Given the description of an element on the screen output the (x, y) to click on. 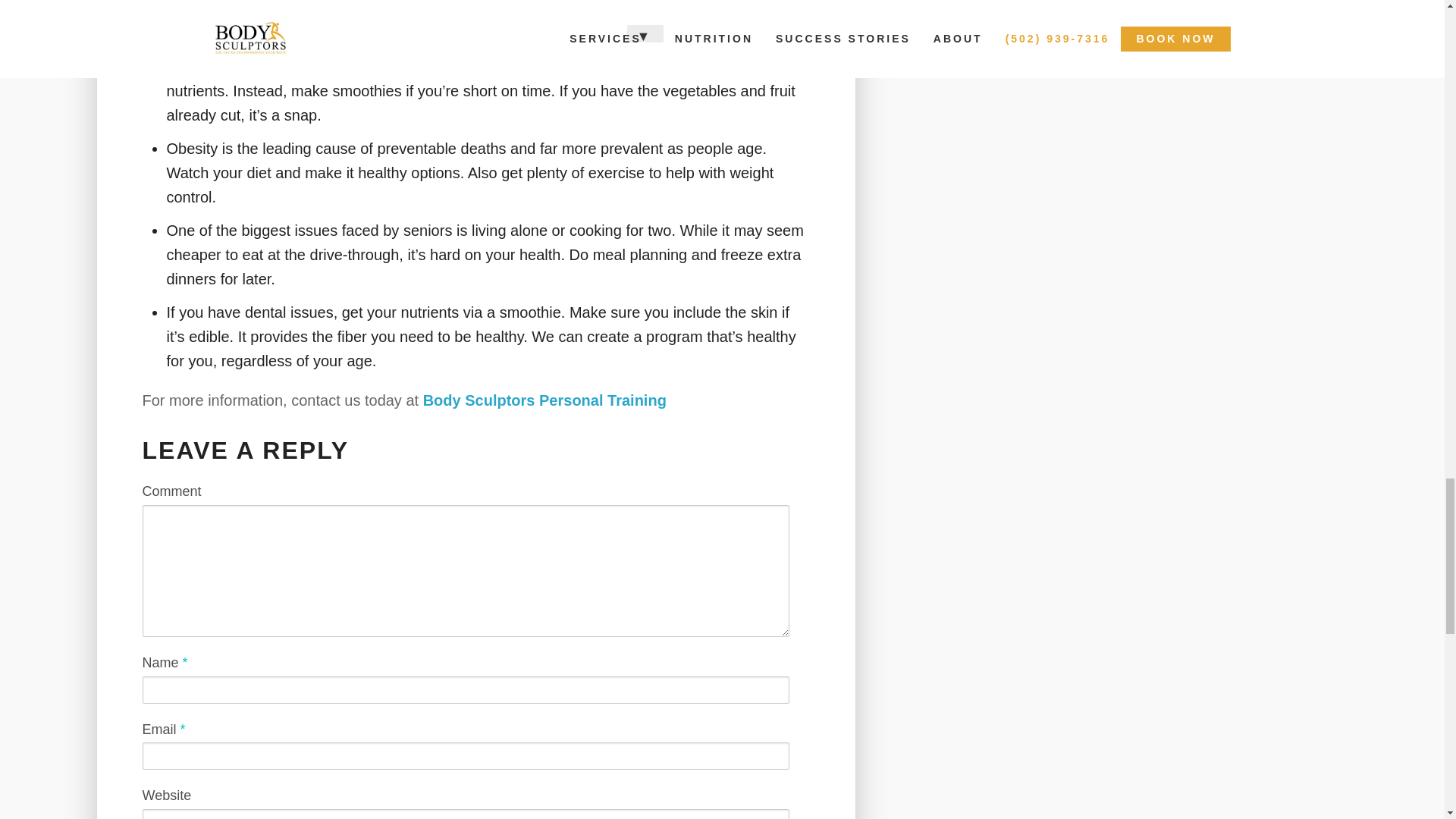
Body Sculptors Personal Training (544, 400)
